Given the description of an element on the screen output the (x, y) to click on. 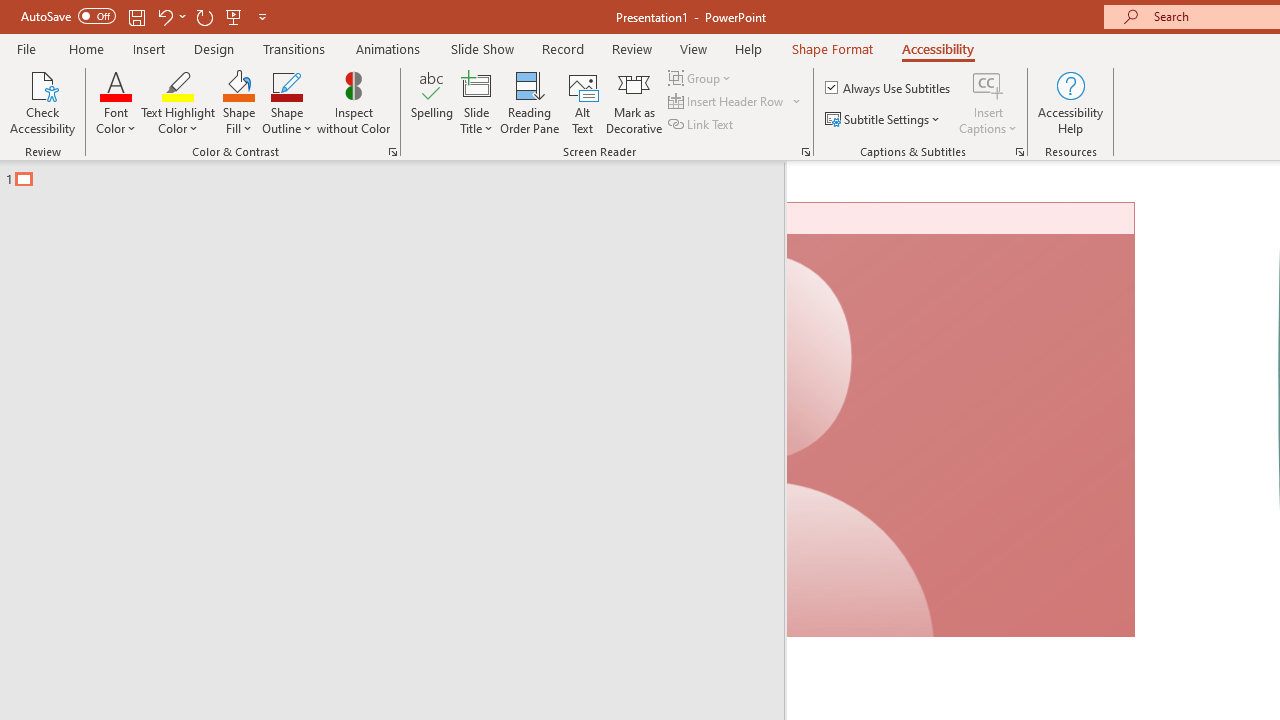
Insert Captions (988, 84)
Alt Text (582, 102)
Check Accessibility (42, 102)
Spelling... (432, 102)
Insert Header Row (727, 101)
Captions & Subtitles (1019, 151)
Shape Outline (286, 102)
Camera 7, No camera detected. (961, 419)
Mark as Decorative (634, 102)
Slide Title (476, 84)
Insert Captions (988, 102)
Insert Header Row (735, 101)
